Given the description of an element on the screen output the (x, y) to click on. 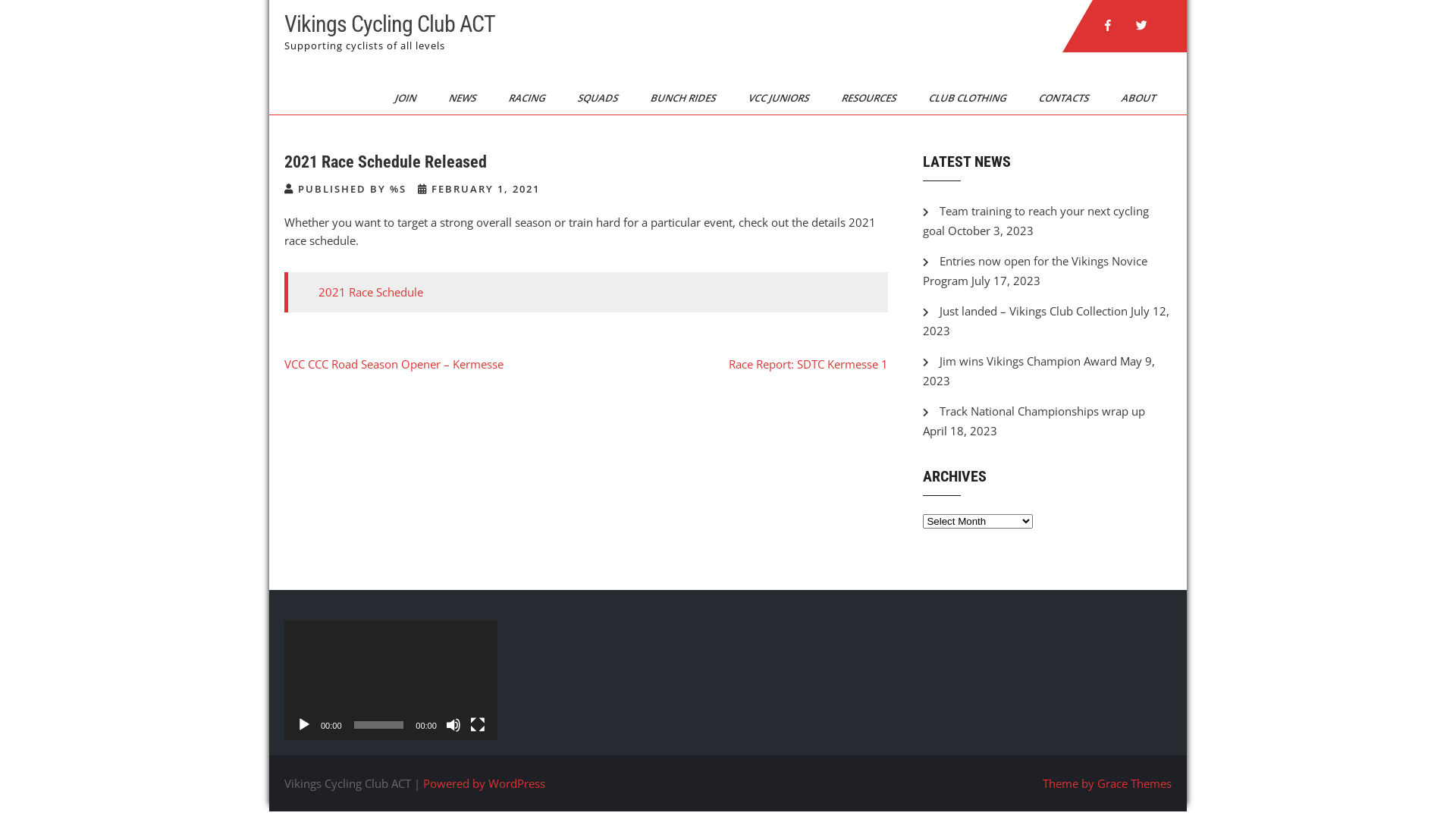
Jim wins Vikings Champion Award Element type: text (1028, 360)
Mute Element type: hover (453, 724)
ABOUT Element type: text (1133, 97)
RACING Element type: text (521, 97)
RESOURCES Element type: text (863, 97)
Entries now open for the Vikings Novice Program Element type: text (1034, 270)
JOIN Element type: text (400, 97)
Play Element type: hover (303, 724)
CONTACTS Element type: text (1058, 97)
CLUB CLOTHING Element type: text (962, 97)
Race Report: SDTC Kermesse 1 Element type: text (808, 363)
Vikings Cycling Club ACT Element type: text (389, 23)
Fullscreen Element type: hover (477, 724)
NEWS Element type: text (457, 97)
2021 Race Schedule Element type: text (370, 291)
Track National Championships wrap up Element type: text (1042, 410)
twitter Element type: hover (1141, 25)
VCC JUNIORS Element type: text (773, 97)
SQUADS Element type: text (592, 97)
facebook Element type: hover (1107, 25)
BUNCH RIDES Element type: text (677, 97)
Powered by WordPress Element type: text (484, 782)
Team training to reach your next cycling goal Element type: text (1035, 220)
Theme by Grace Themes Element type: text (1106, 782)
